Given the description of an element on the screen output the (x, y) to click on. 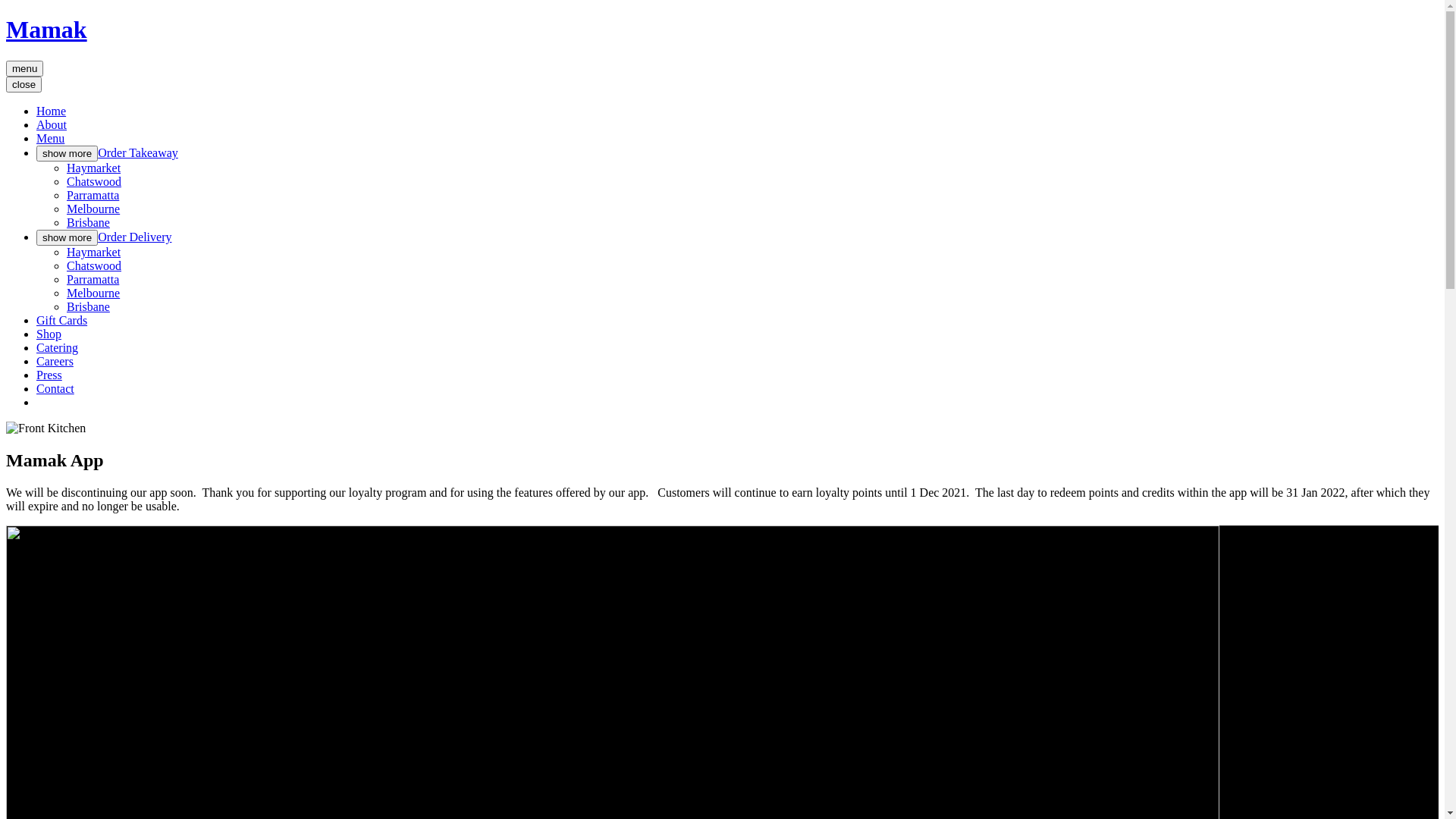
Shop Element type: text (48, 333)
Careers Element type: text (54, 360)
Home Element type: text (50, 110)
Chatswood Element type: text (93, 181)
About Element type: text (51, 124)
Chatswood Element type: text (93, 265)
Haymarket Element type: text (93, 251)
Order Delivery Element type: text (134, 236)
close Element type: text (23, 84)
Brisbane Element type: text (87, 306)
Catering Element type: text (57, 347)
Mamak Element type: text (46, 29)
Order Takeaway Element type: text (137, 152)
show more Element type: text (66, 237)
Melbourne Element type: text (92, 292)
Melbourne Element type: text (92, 208)
Parramatta Element type: text (92, 279)
Gift Cards Element type: text (61, 319)
Parramatta Element type: text (92, 194)
Haymarket Element type: text (93, 167)
Brisbane Element type: text (87, 222)
menu Element type: text (24, 68)
show more Element type: text (66, 153)
Contact Element type: text (55, 388)
Press Element type: text (49, 374)
Menu Element type: text (50, 137)
